Given the description of an element on the screen output the (x, y) to click on. 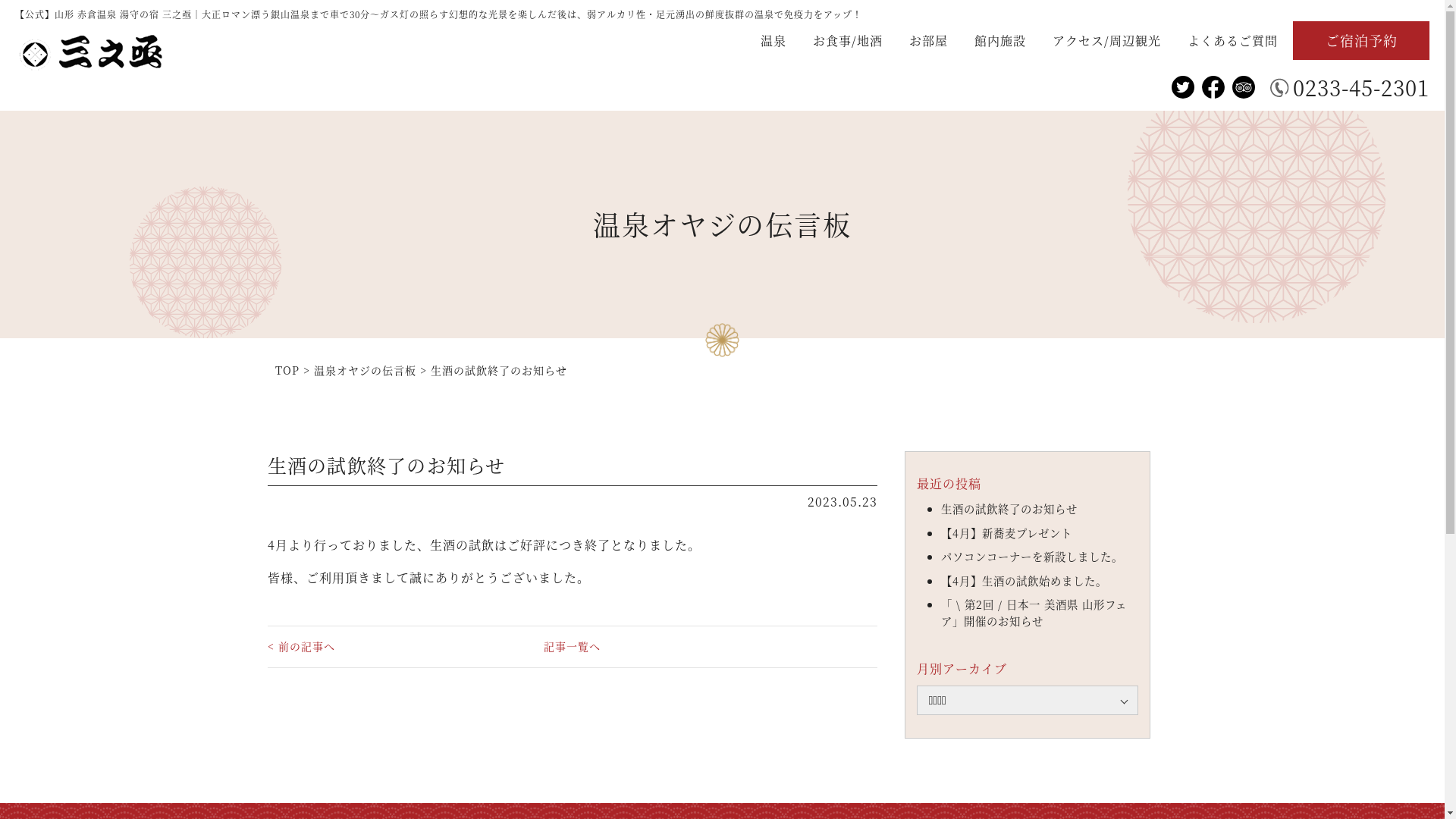
0233-45-2301 Element type: text (1349, 87)
TOP Element type: text (286, 369)
